Given the description of an element on the screen output the (x, y) to click on. 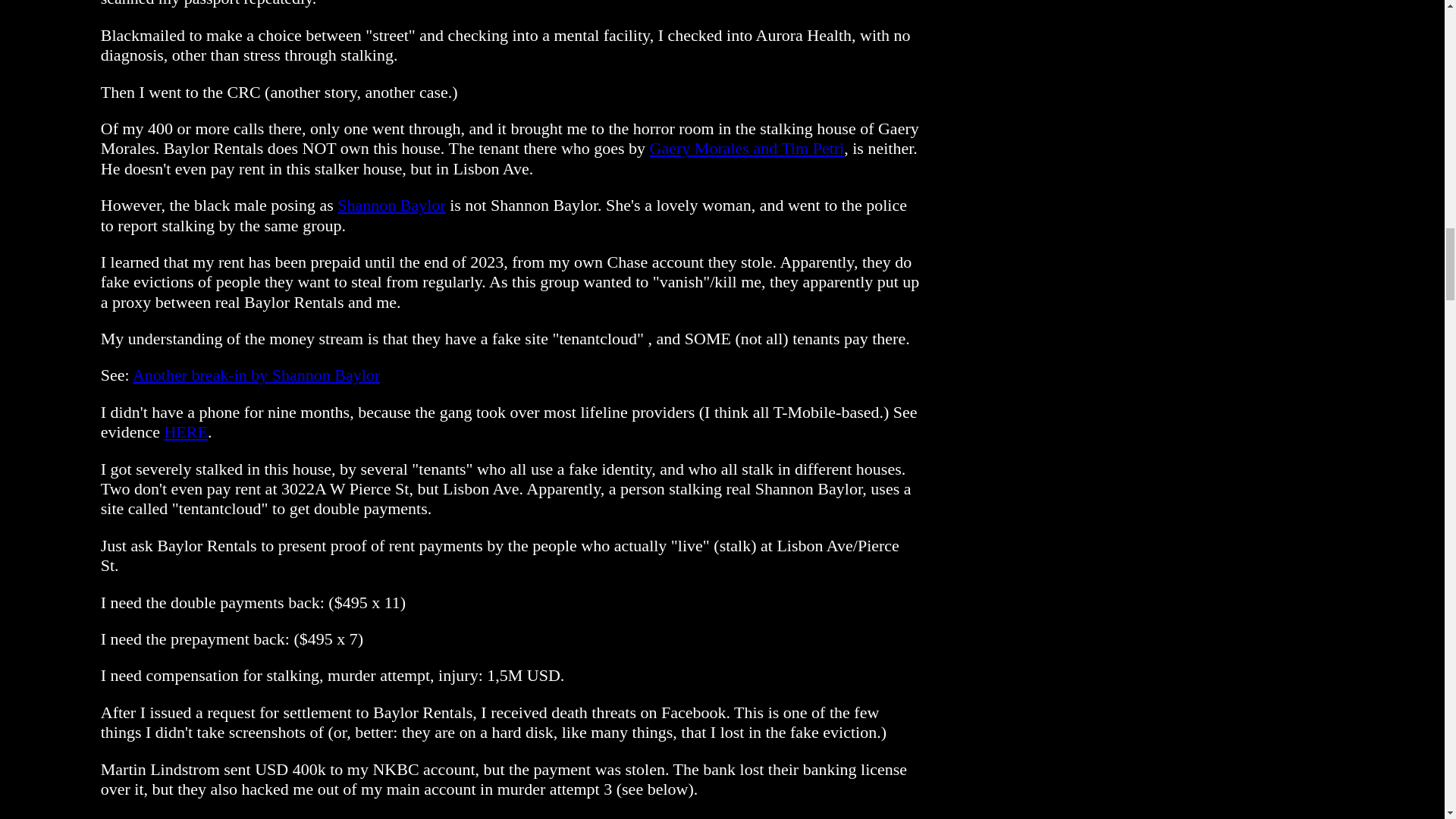
HERE (184, 431)
Another break-in by Shannon Baylor (256, 374)
Shannon Baylor (391, 204)
Gaery Morales and Tim Petri (746, 148)
